Given the description of an element on the screen output the (x, y) to click on. 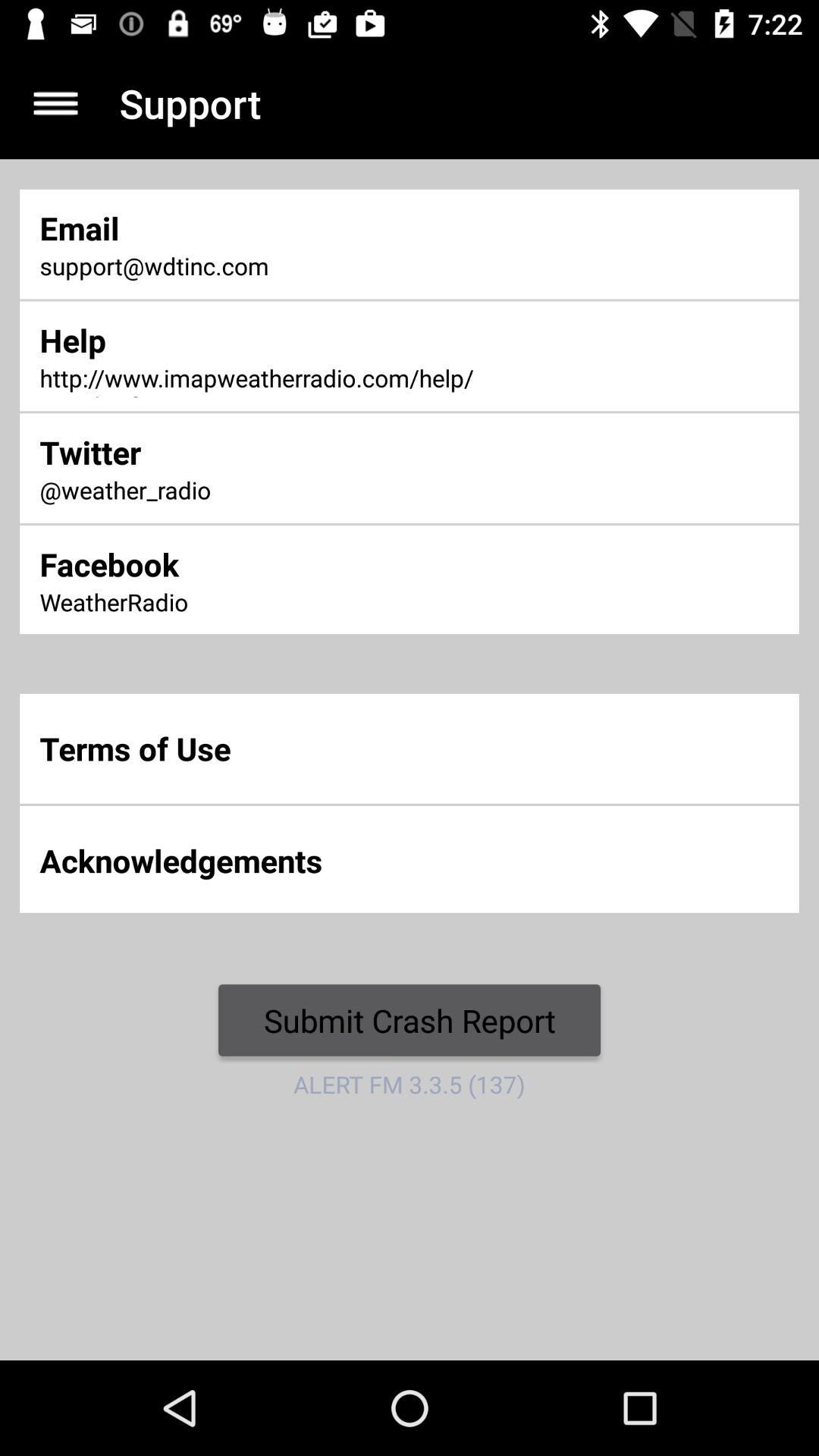
tap icon next to the support app (55, 103)
